Given the description of an element on the screen output the (x, y) to click on. 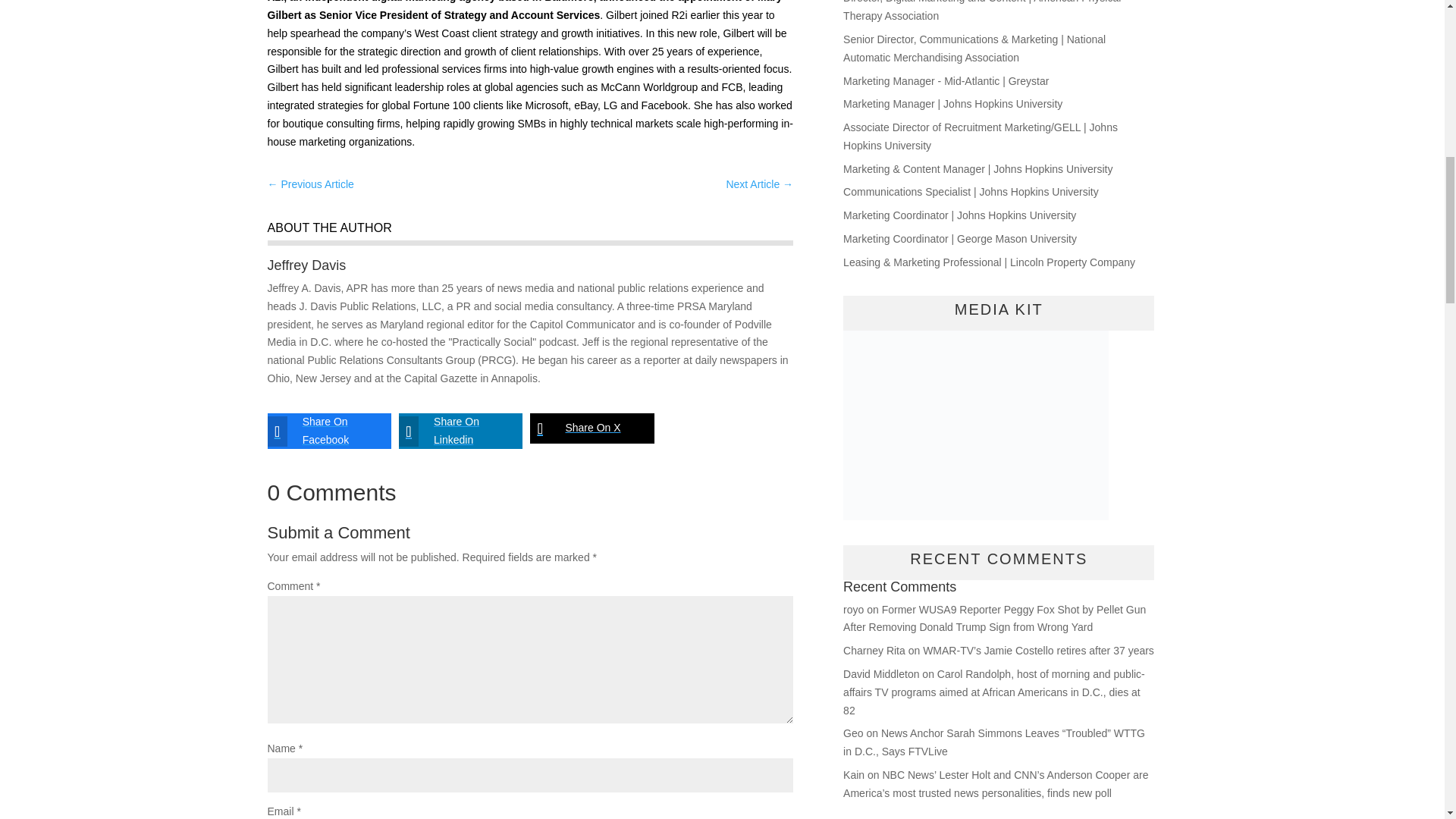
Share On Linkedin (448, 431)
Share On Facebook (317, 431)
Share On X (579, 428)
